Given the description of an element on the screen output the (x, y) to click on. 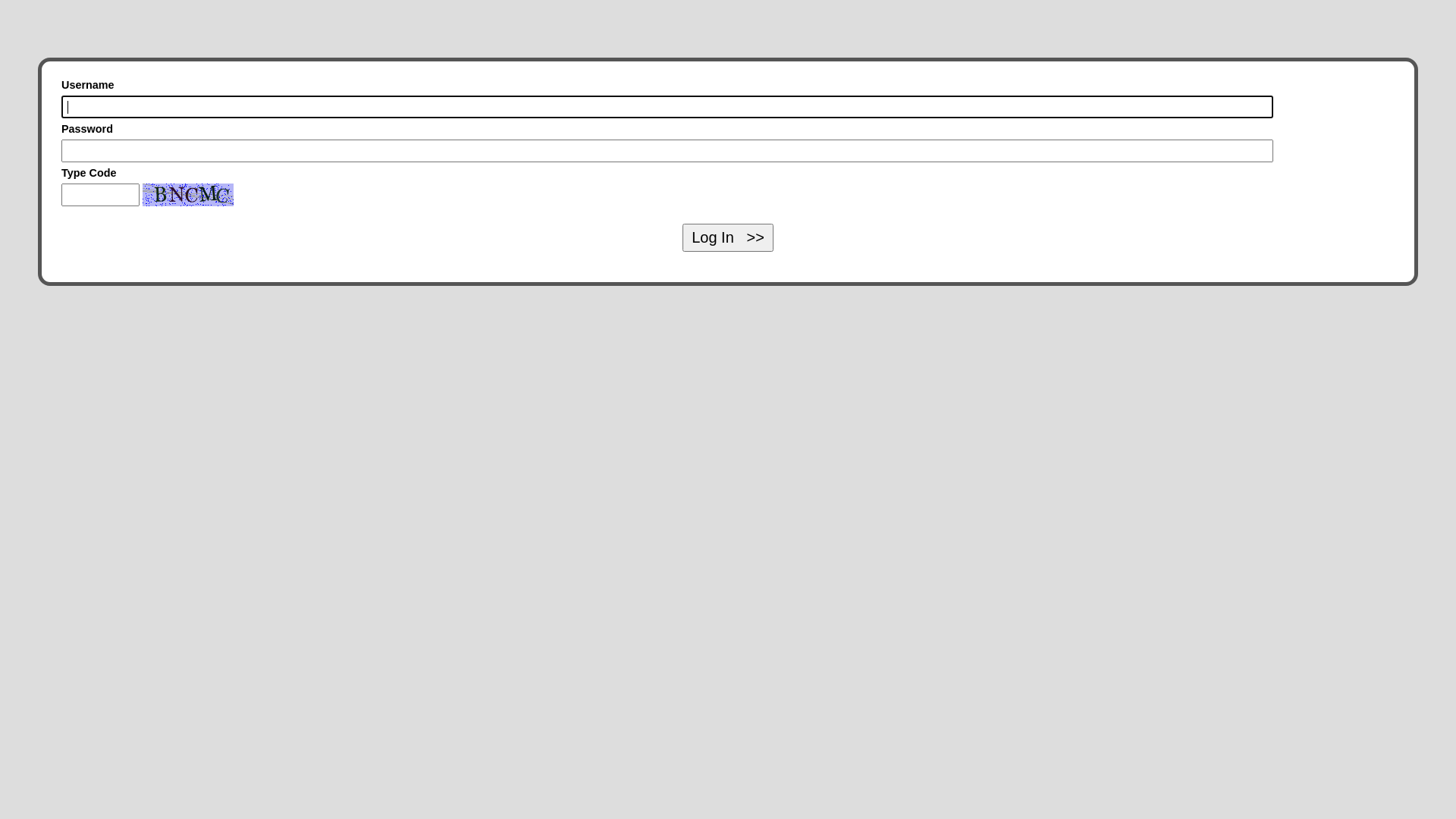
Log In   >> Element type: text (727, 237)
